Given the description of an element on the screen output the (x, y) to click on. 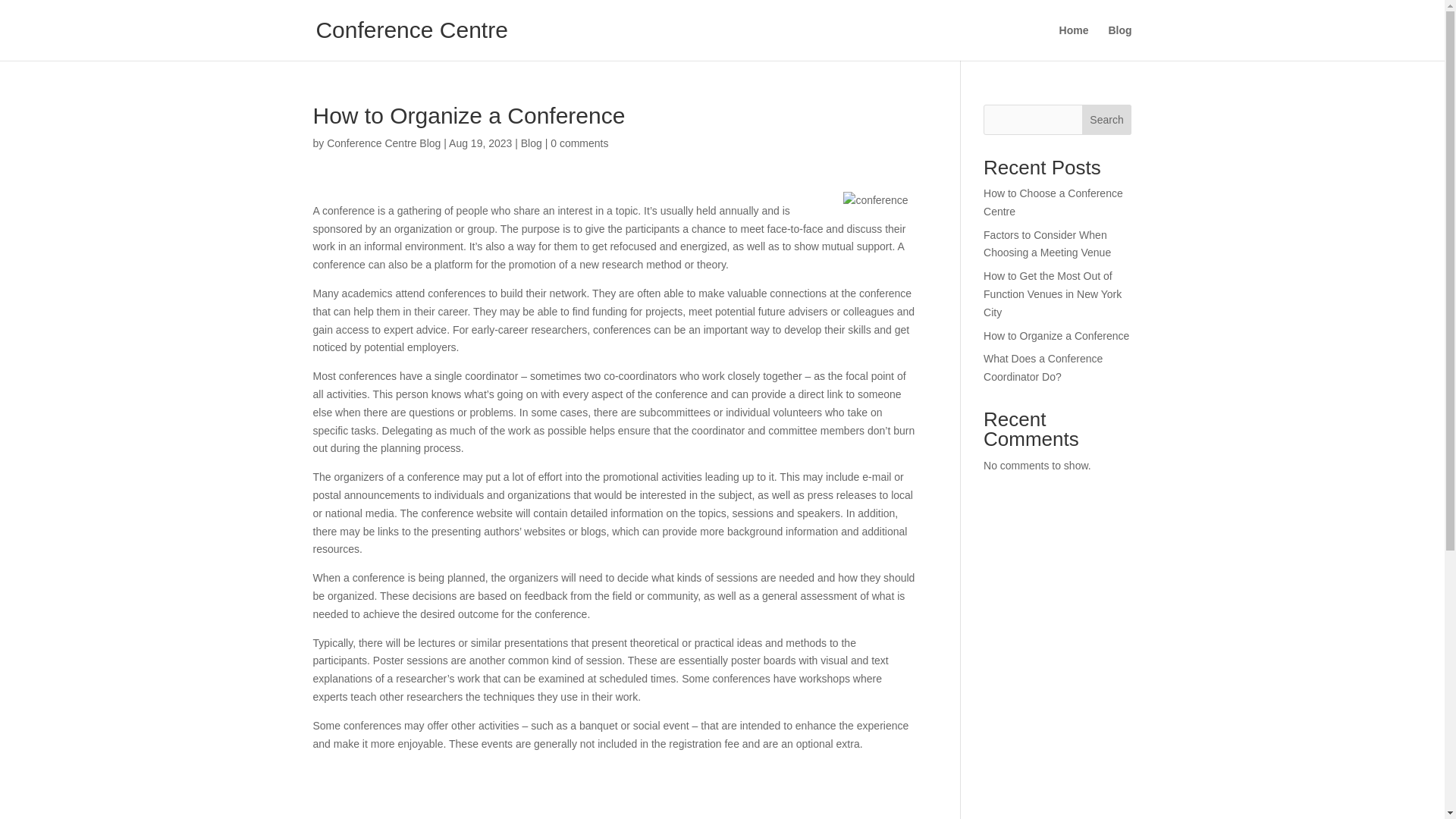
Blog (531, 143)
What Does a Conference Coordinator Do? (1043, 367)
0 comments (579, 143)
Factors to Consider When Choosing a Meeting Venue (1047, 244)
Conference Centre (410, 29)
How to Organize a Conference (1056, 336)
How to Get the Most Out of Function Venues in New York City (1052, 294)
Conference Centre Blog (383, 143)
How to Choose a Conference Centre (1053, 202)
Posts by Conference Centre Blog (383, 143)
